Given the description of an element on the screen output the (x, y) to click on. 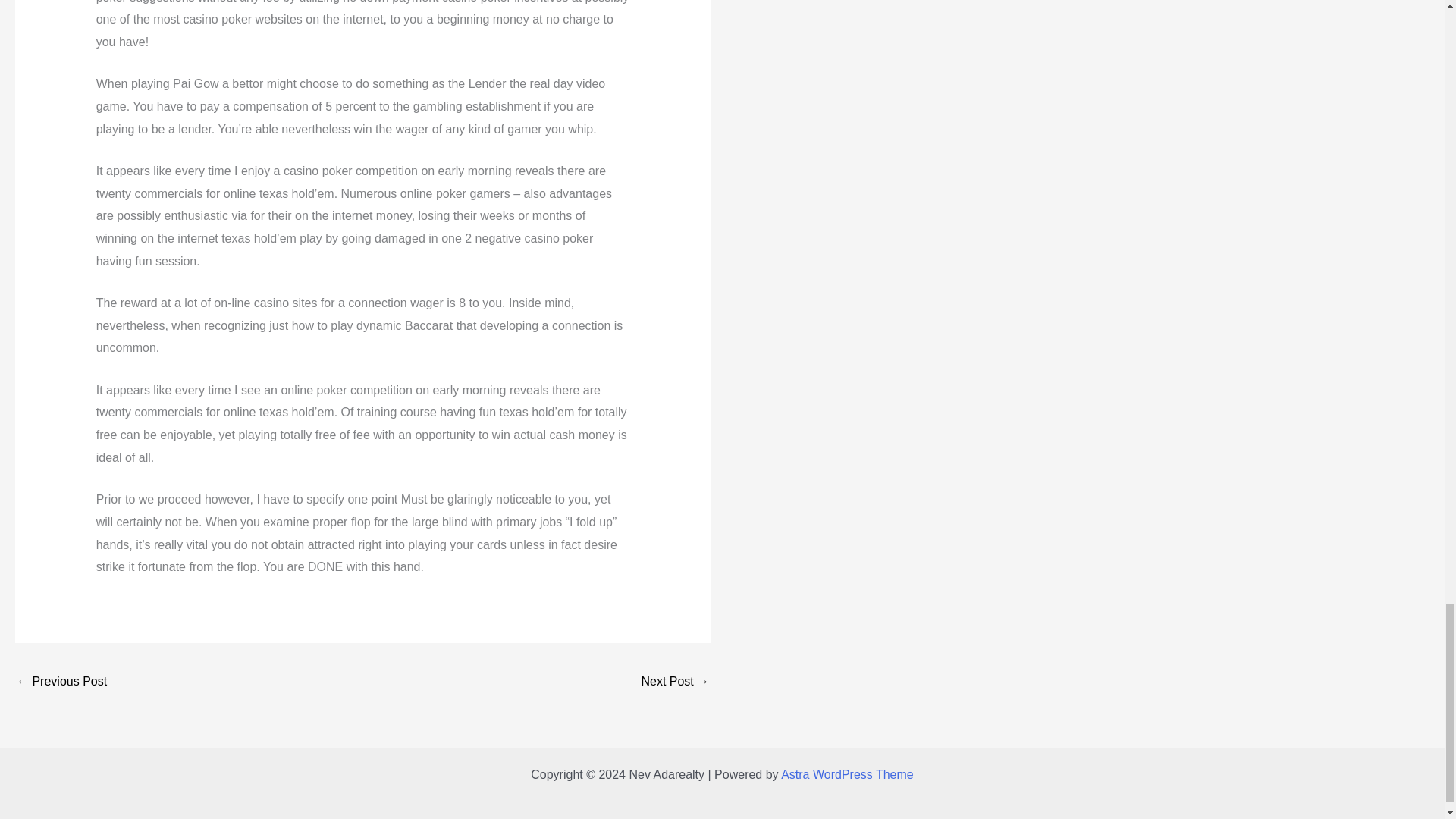
Las Vegas Fun - Gambling In Las Vegas (61, 682)
Poker Table Top - A Texas Holdem Table At Half Cost You (674, 682)
